Given the description of an element on the screen output the (x, y) to click on. 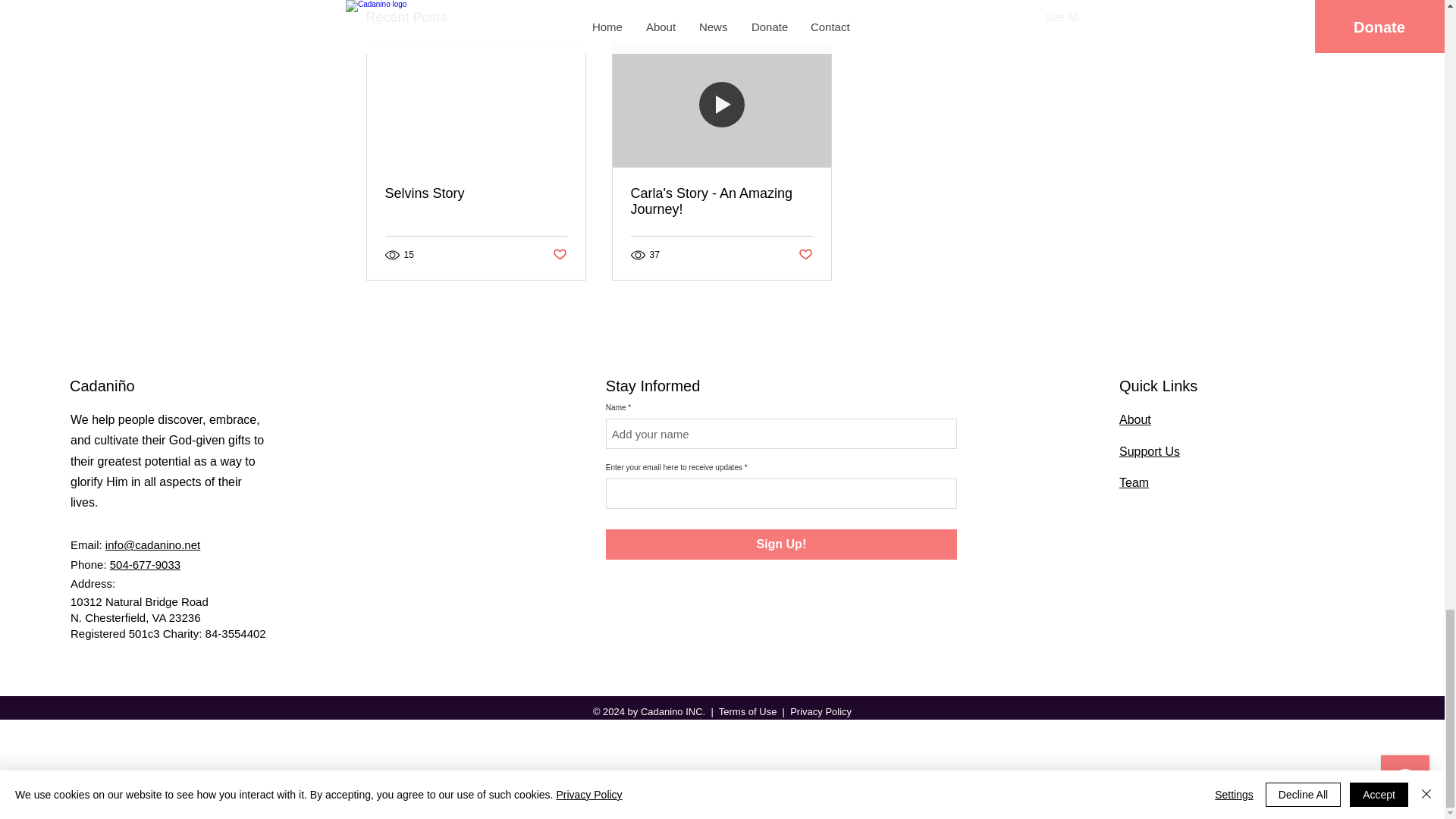
Selvins Story (476, 193)
Post not marked as liked (558, 254)
See All (1061, 17)
